Given the description of an element on the screen output the (x, y) to click on. 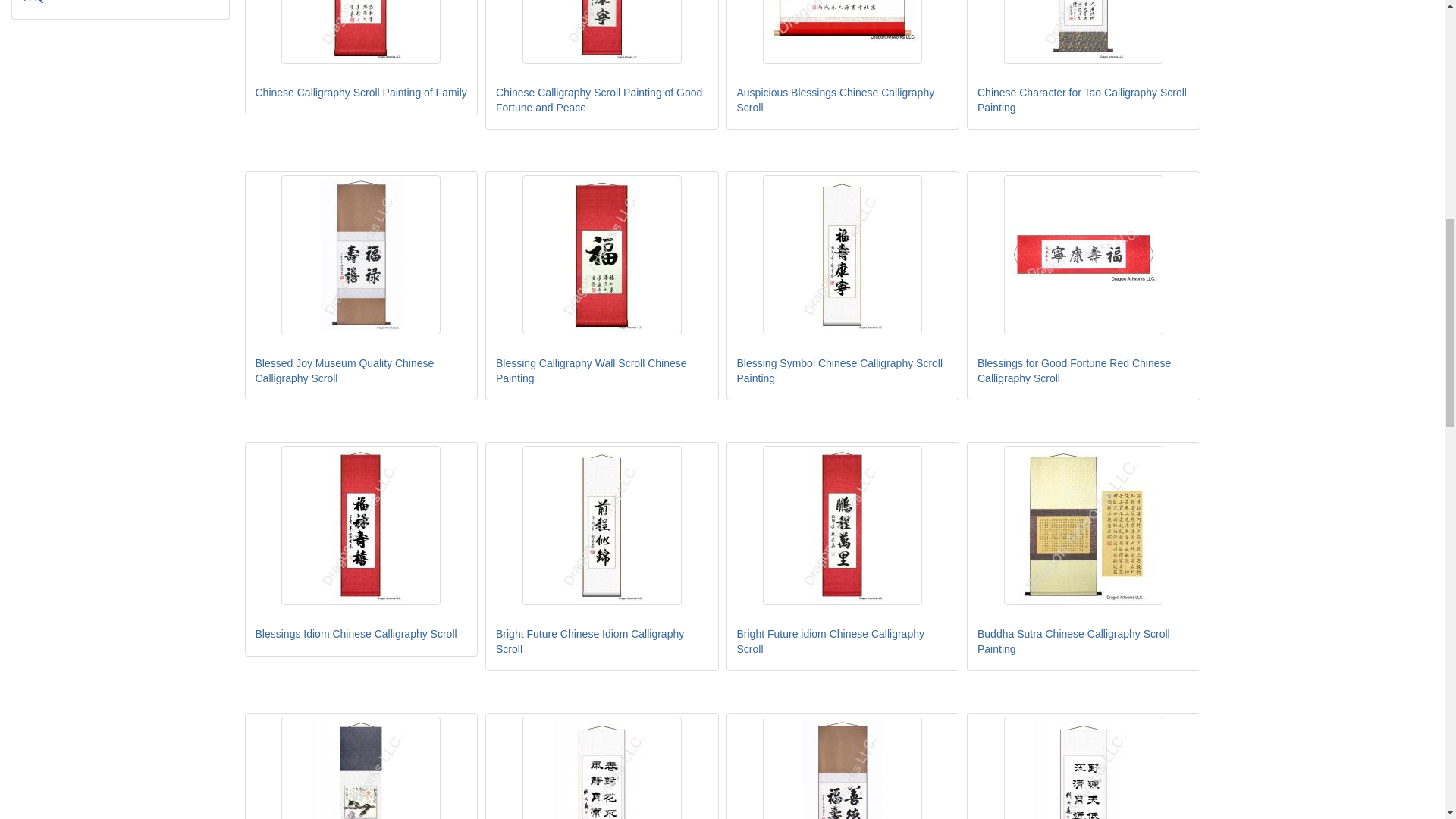
Chinese Calligraphy Scroll Painting of Family (361, 31)
Blessings Idiom Chinese Calligraphy Scroll (361, 525)
Buddha Sutra Chinese Calligraphy Scroll Painting (1083, 525)
Bright Future Chinese Idiom Calligraphy Scroll (601, 525)
Blessings for Good Fortune Red Chinese Calligraphy Scroll (1083, 254)
Blessing Calligraphy Wall Scroll Chinese Painting (601, 254)
Chinese Character for Tao Calligraphy Scroll Painting (1083, 31)
Auspicious Blessings Chinese Calligraphy Scroll (841, 31)
Bright Future idiom Chinese Calligraphy Scroll (841, 525)
Cat and Rat Chinese Calligraphy Scroll (361, 767)
Blessing Symbol Chinese Calligraphy Scroll Painting (841, 254)
Chinese Couplet Poem Calligraphy Painting Scroll (601, 767)
Blessed Joy Museum Quality Chinese Calligraphy Scroll (361, 254)
Kindness is a Virtue Chinese Calligraphy Scroll (841, 767)
